Given the description of an element on the screen output the (x, y) to click on. 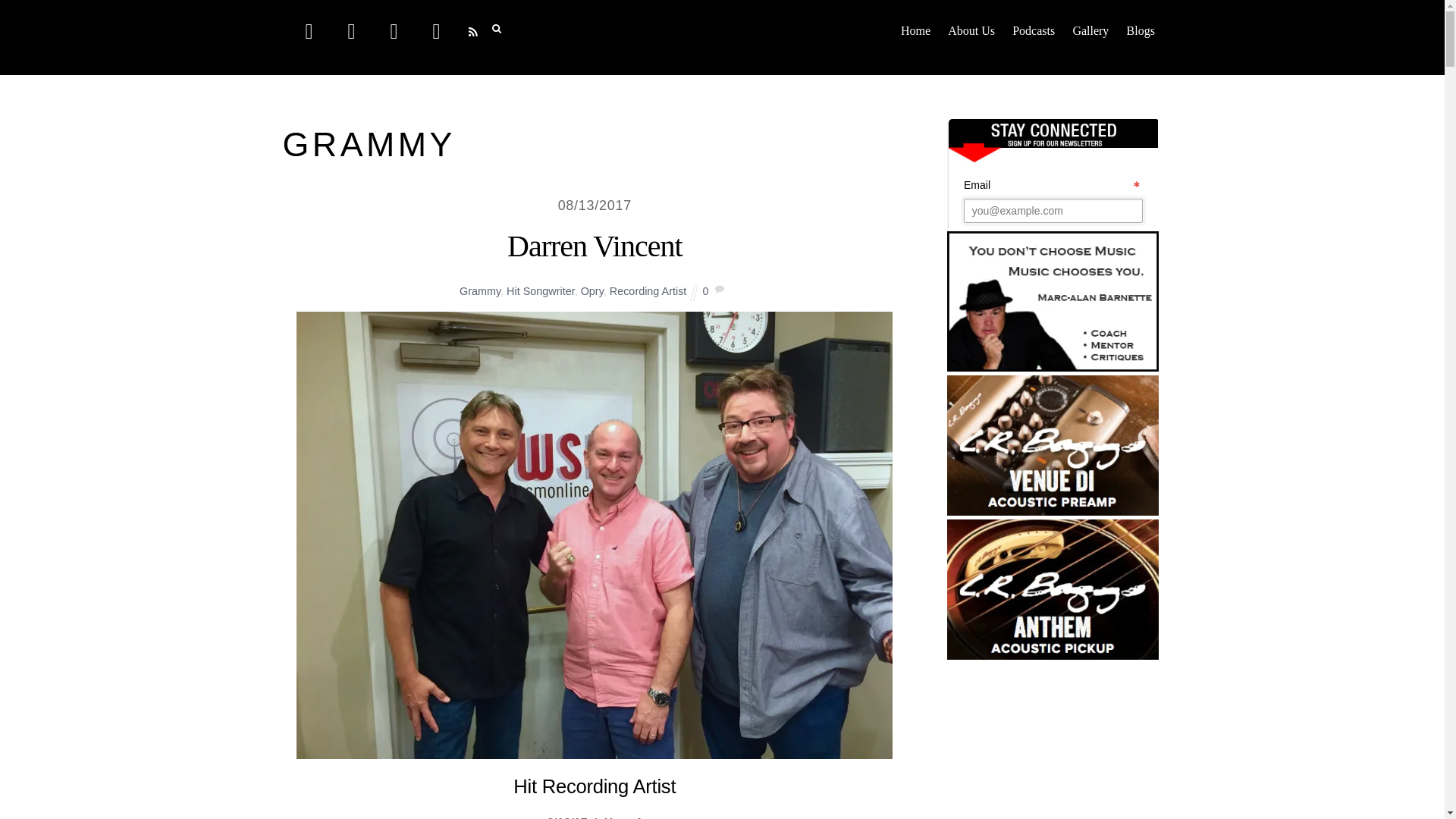
Search (504, 27)
Blogs (1140, 30)
Home (915, 30)
Grammy (480, 291)
Opry (592, 291)
Hit Songwriter (540, 291)
About Us (971, 30)
Gallery (1090, 30)
Podcasts (1034, 30)
Recording Artist (648, 291)
